Given the description of an element on the screen output the (x, y) to click on. 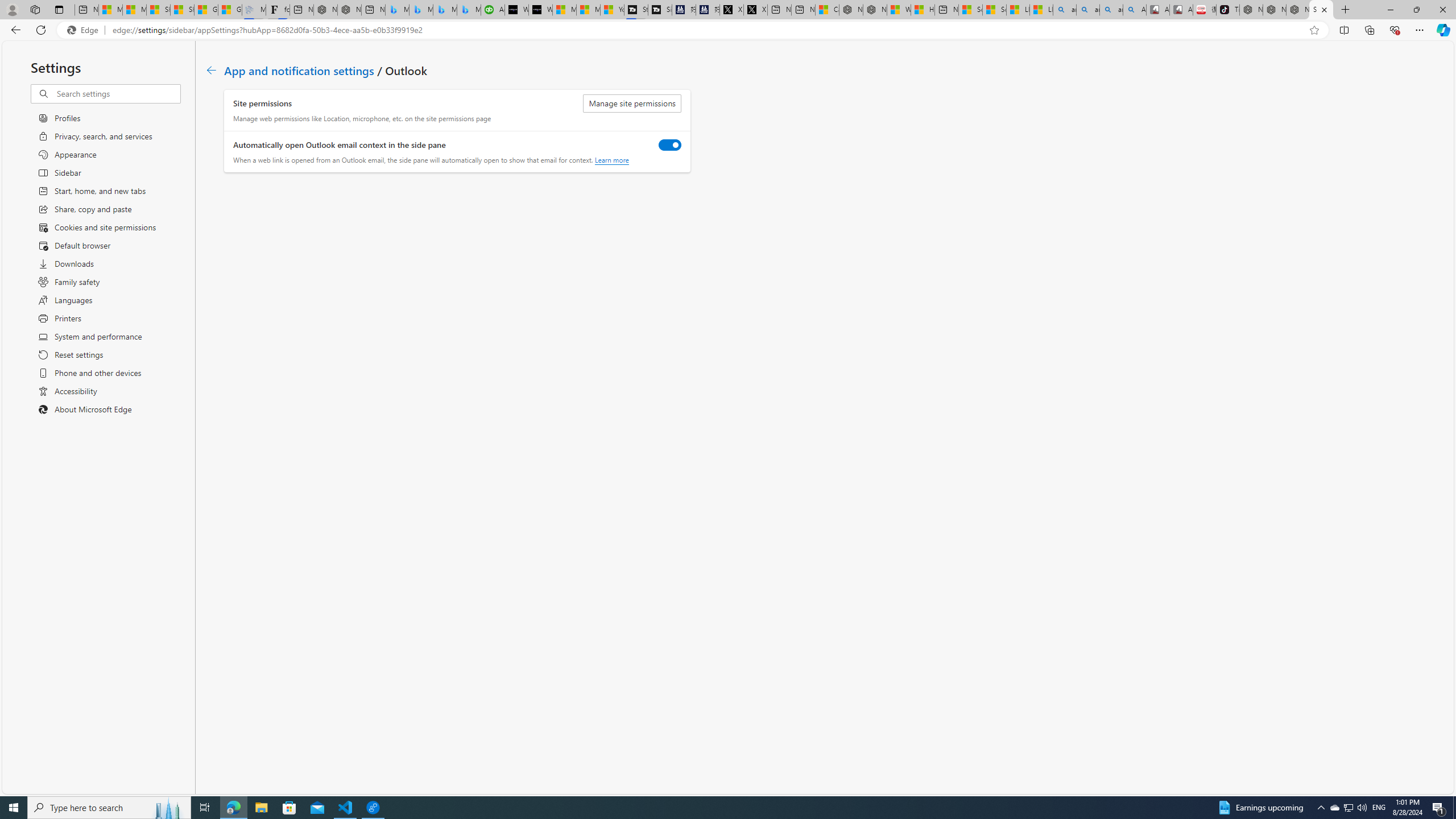
Settings (1321, 9)
Class: c01188 (210, 70)
